Given the description of an element on the screen output the (x, y) to click on. 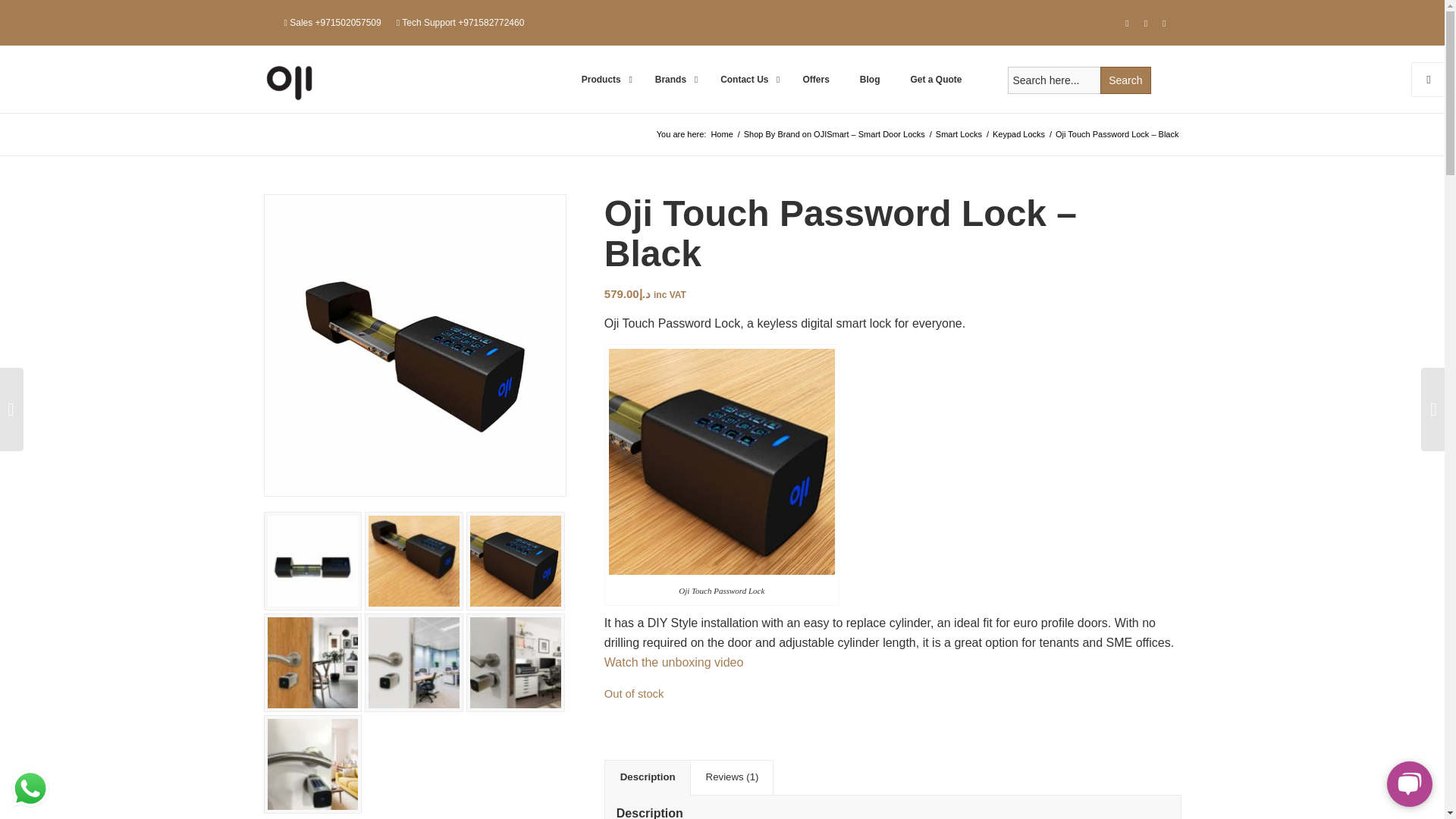
Products (603, 79)
Smart Locks (958, 134)
oji touch smart door lock with PIN access (414, 560)
Smart Locks (958, 134)
Oji touch keypad smart lock black colour- DIY installation (414, 345)
Search (1125, 80)
OJIsmart (721, 134)
Search (1125, 80)
Brands (672, 79)
Description (647, 777)
Contact Us (745, 79)
Keypad Locks (1018, 134)
oji touch password lock with keypad black lit up keypad (514, 560)
Home (721, 134)
Oji Touch Password Lock - Black 2 (312, 560)
